Given the description of an element on the screen output the (x, y) to click on. 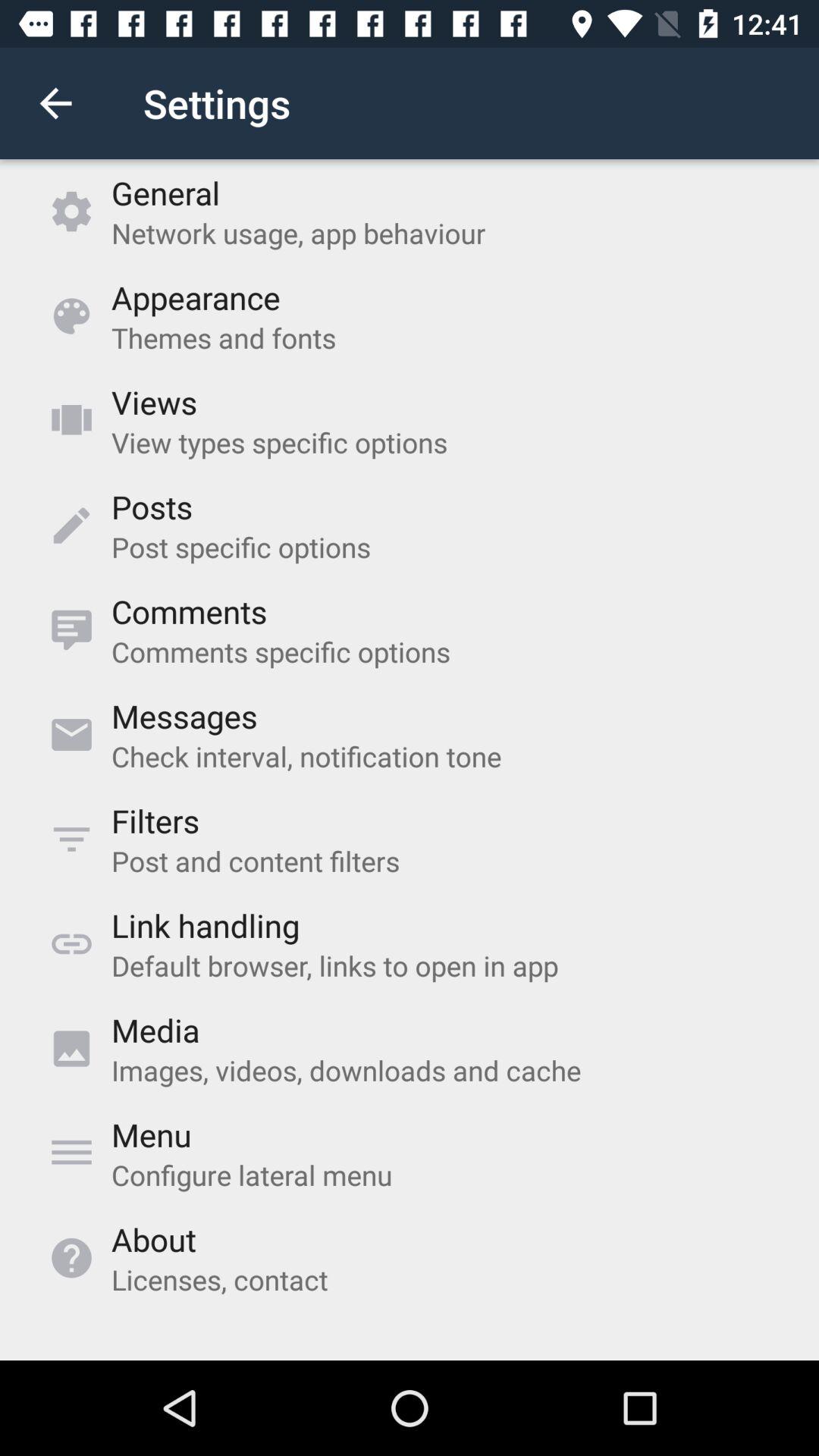
click item below views icon (279, 442)
